Given the description of an element on the screen output the (x, y) to click on. 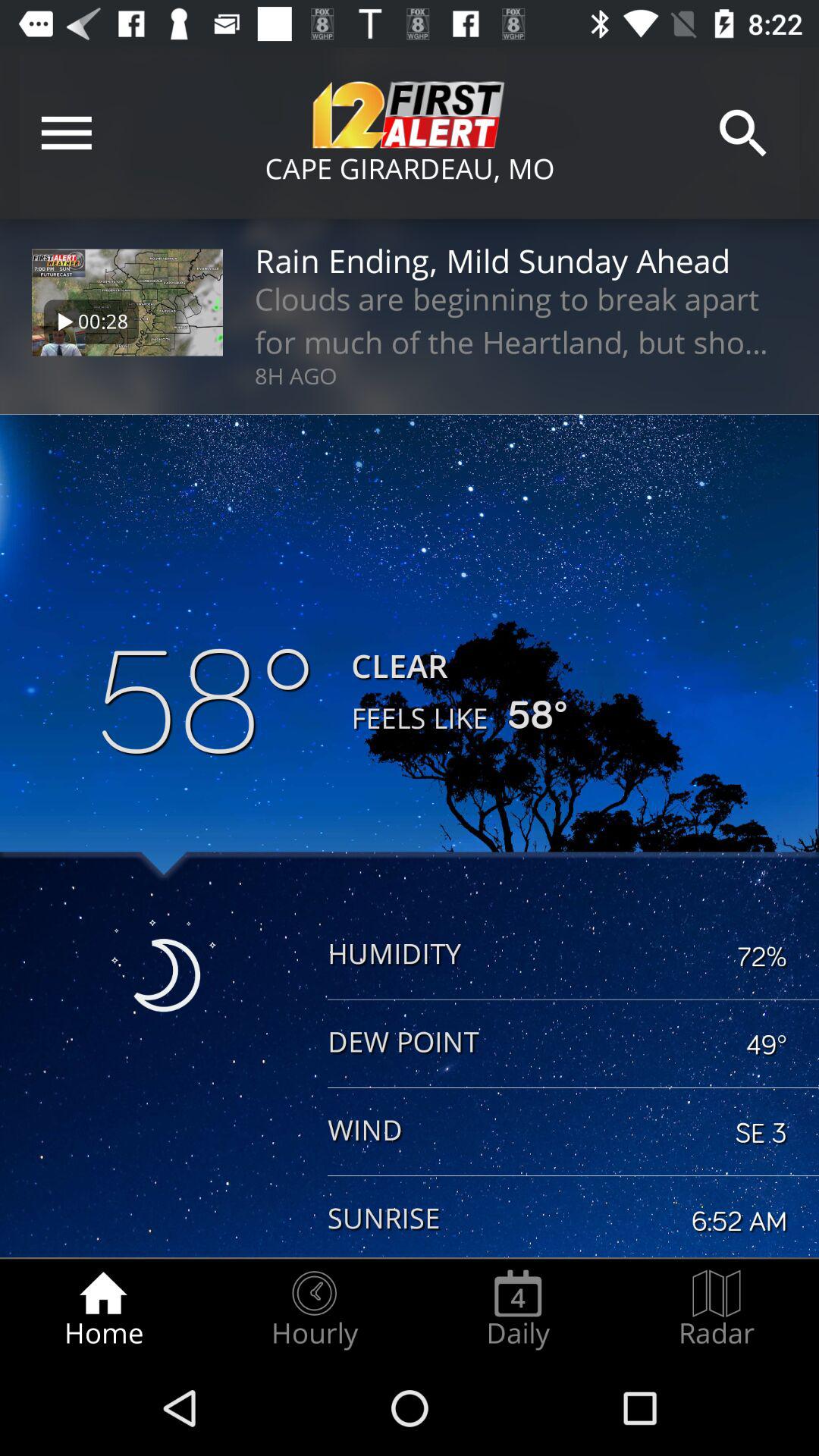
turn off the radio button next to the hourly icon (518, 1309)
